Given the description of an element on the screen output the (x, y) to click on. 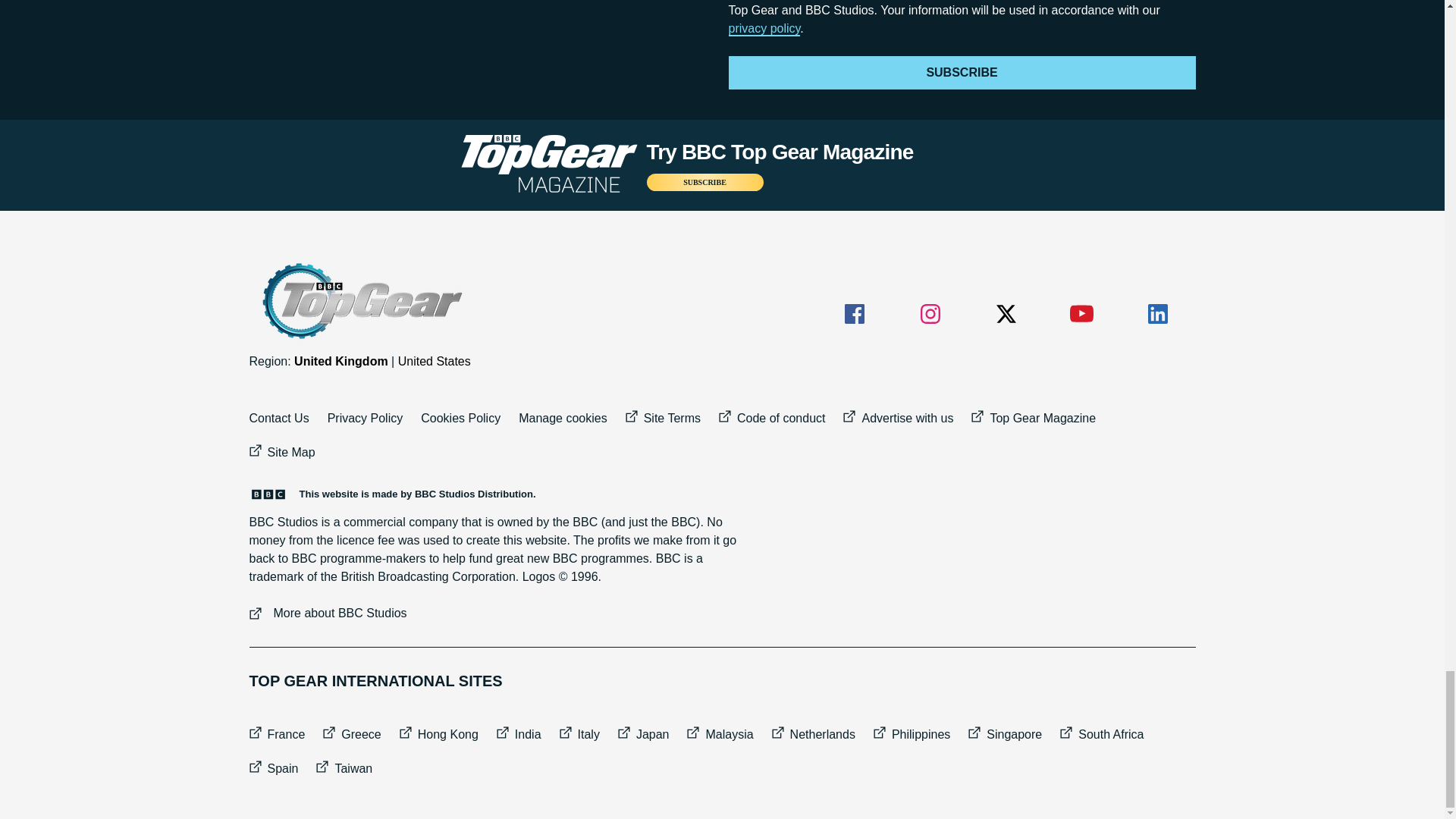
Home (359, 301)
